Given the description of an element on the screen output the (x, y) to click on. 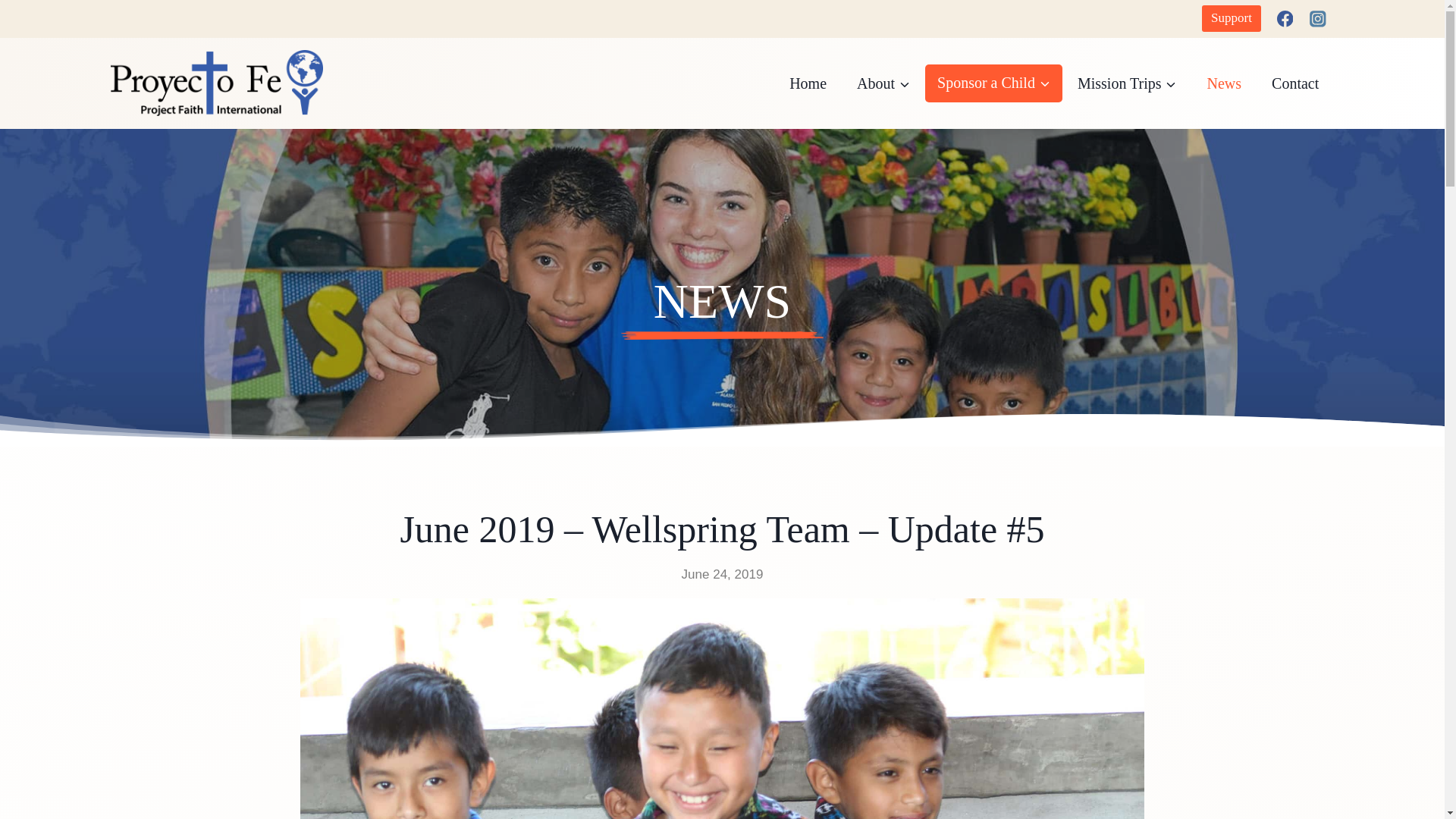
Mission Trips (1127, 83)
Support (1231, 17)
News (1224, 83)
Contact (1294, 83)
About (882, 83)
Home (807, 83)
Sponsor a Child (993, 83)
